Given the description of an element on the screen output the (x, y) to click on. 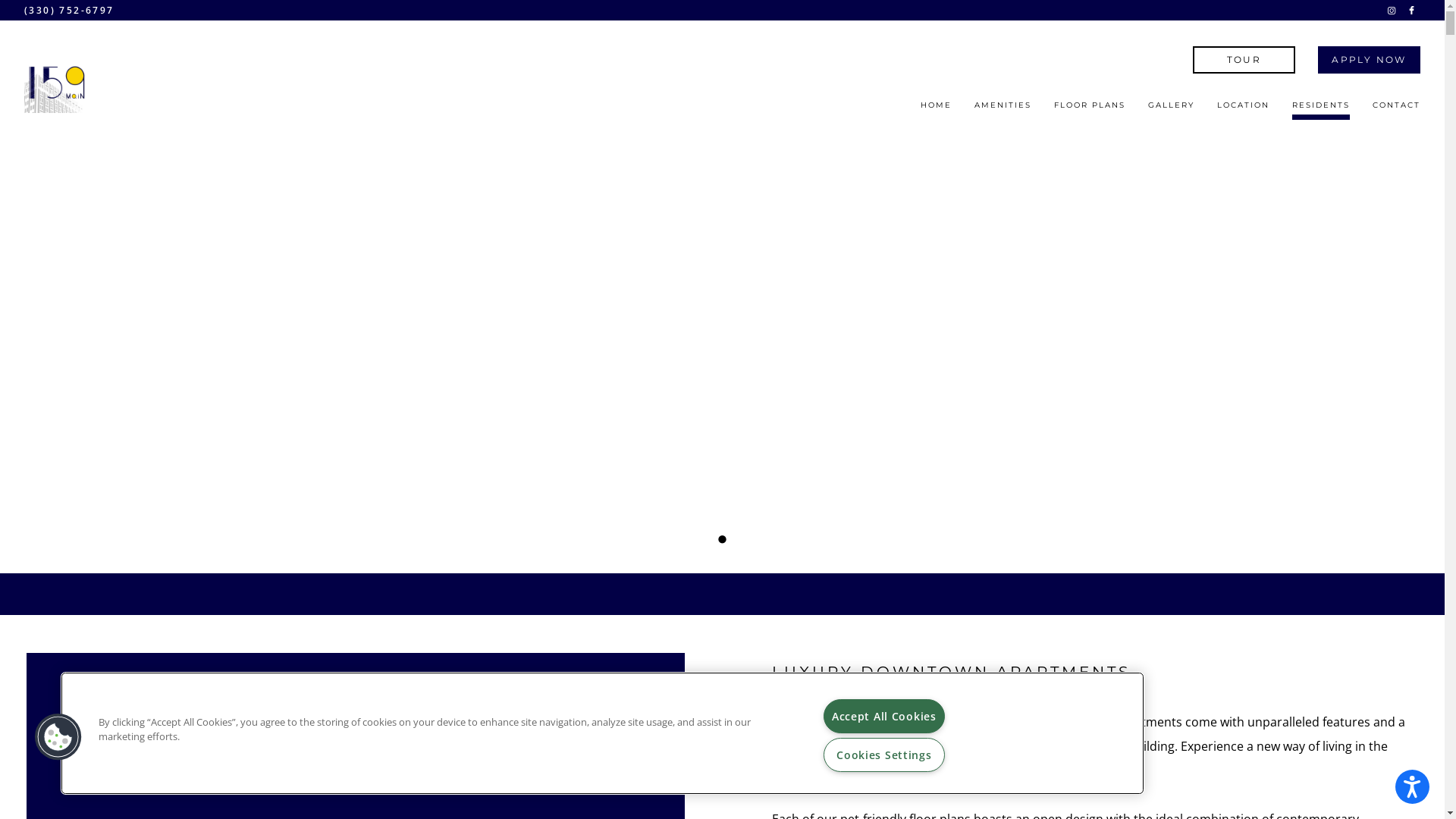
CONTACT Element type: text (1396, 109)
Cookies Button Element type: text (58, 736)
FLOOR PLANS Element type: text (1089, 109)
Home Element type: hover (56, 82)
(330) 752-6797 Element type: text (69, 9)
GALLERY Element type: text (1171, 109)
HOME Element type: text (935, 109)
RESIDENTS Element type: text (1320, 109)
Cookies Settings Element type: text (883, 754)
LOCATION Element type: text (1243, 109)
APPLY NOW Element type: text (1368, 58)
AMENITIES Element type: text (1002, 109)
Accept All Cookies Element type: text (883, 716)
TOUR Element type: text (1243, 58)
